Given the description of an element on the screen output the (x, y) to click on. 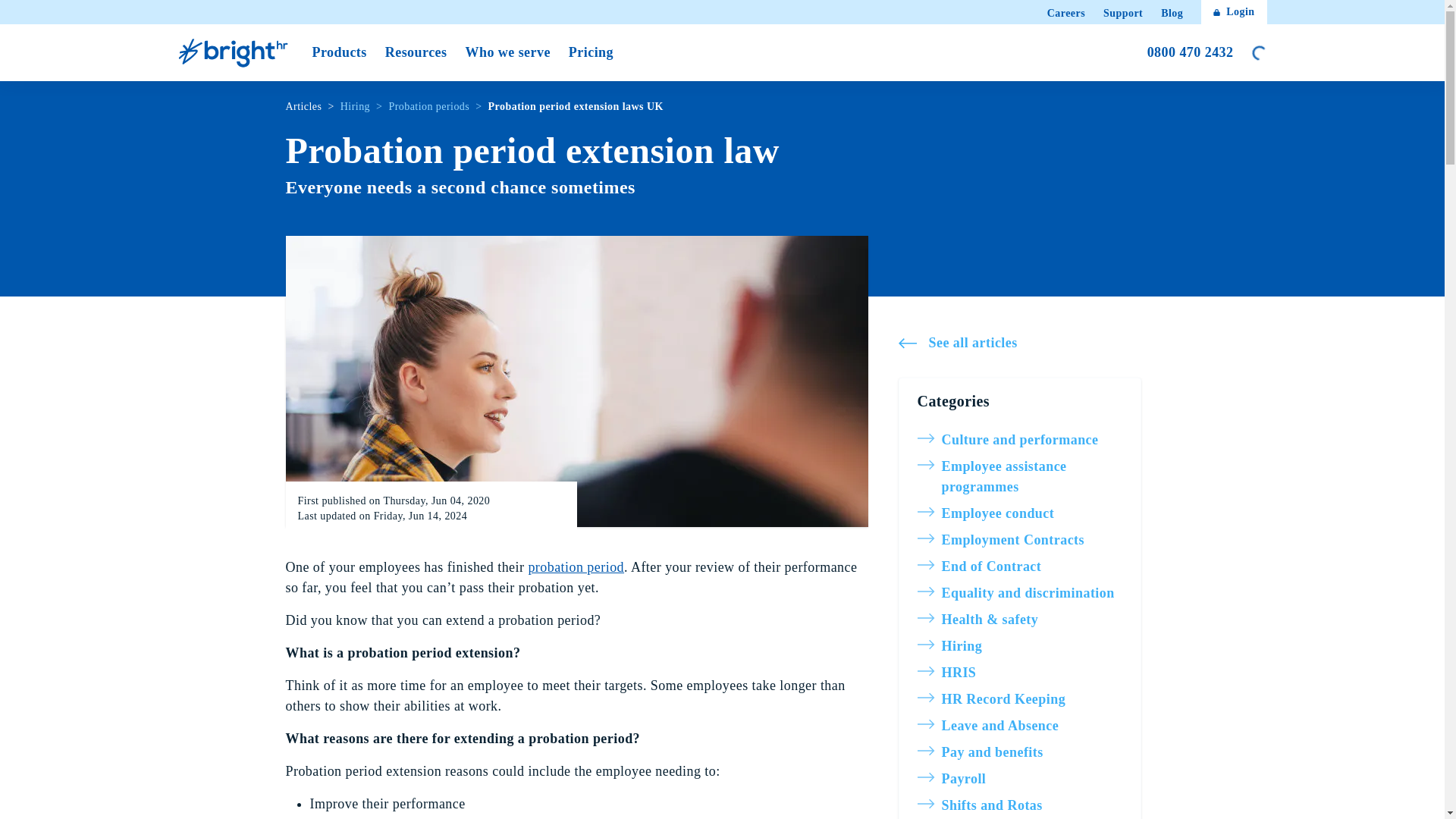
HRIS (1019, 672)
Employment Contracts (1019, 539)
Blog (1171, 13)
Employee conduct (1019, 513)
Probation periods (575, 566)
Pay and benefits (1019, 752)
End of Contract (1019, 566)
Employee assistance programmes (1019, 476)
Equality and discrimination (1019, 593)
Leave and Absence (1019, 725)
